Given the description of an element on the screen output the (x, y) to click on. 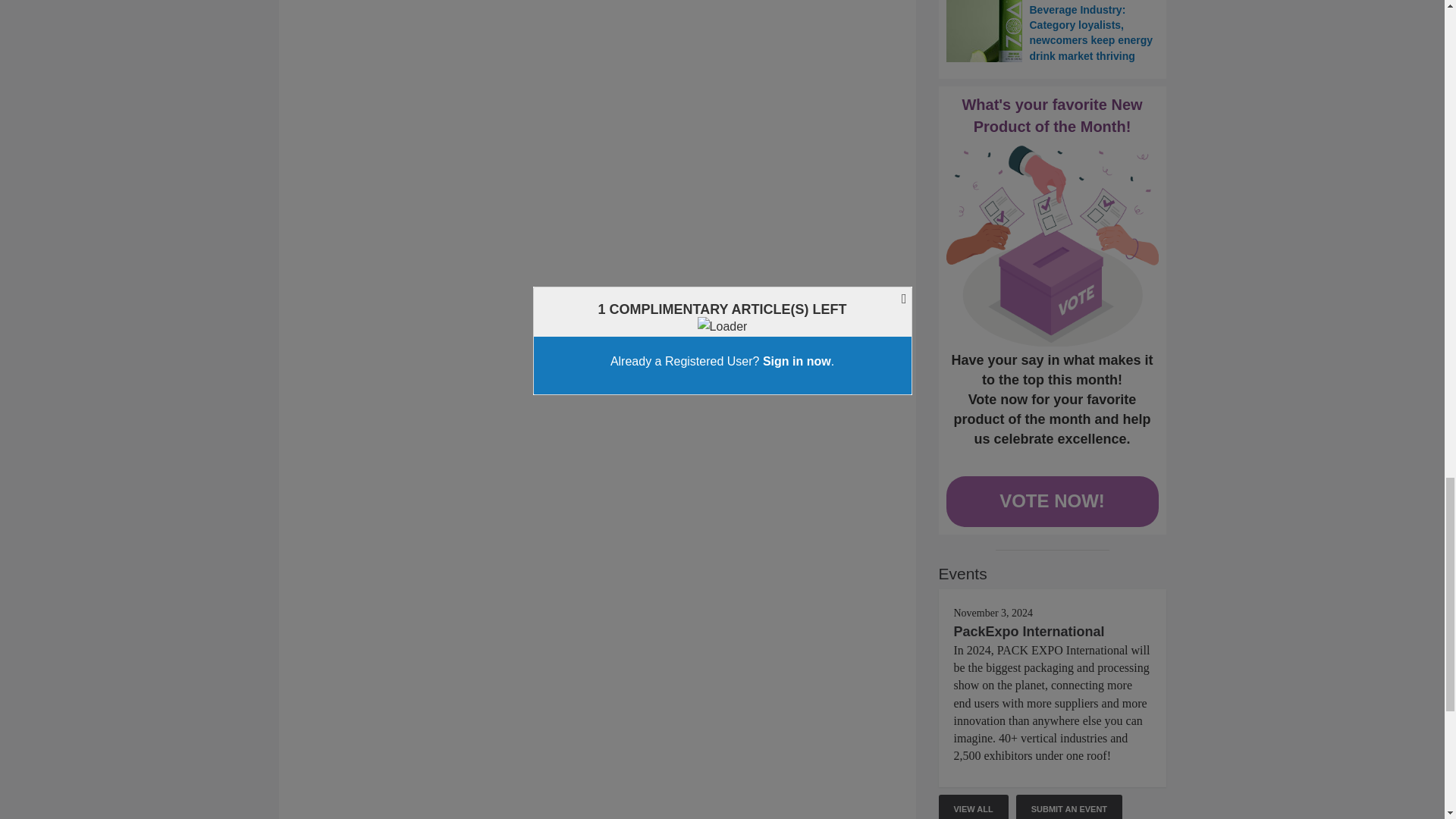
Vote (1052, 245)
PackExpo International (1029, 631)
